Given the description of an element on the screen output the (x, y) to click on. 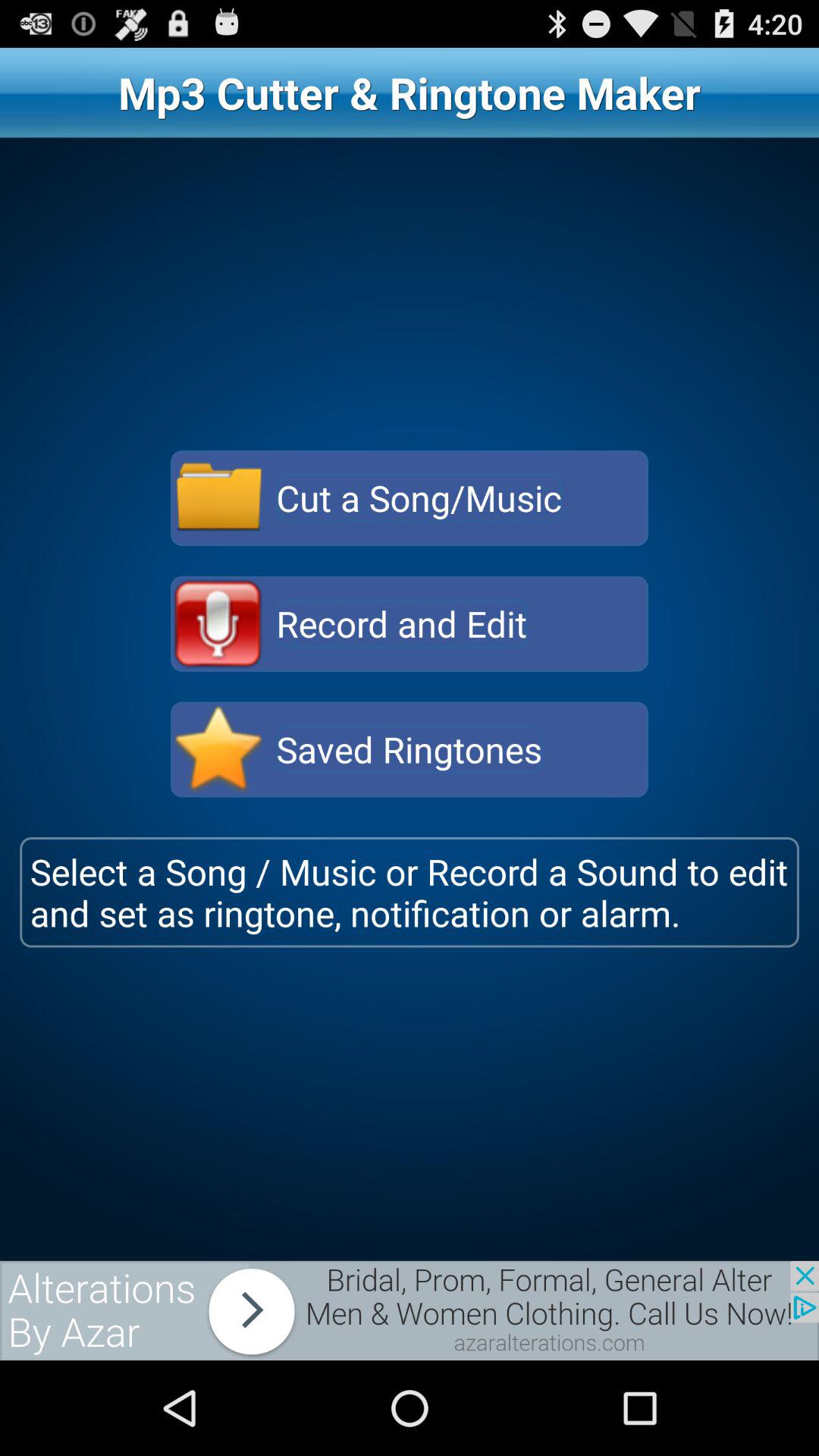
open cut a song/music (218, 498)
